Given the description of an element on the screen output the (x, y) to click on. 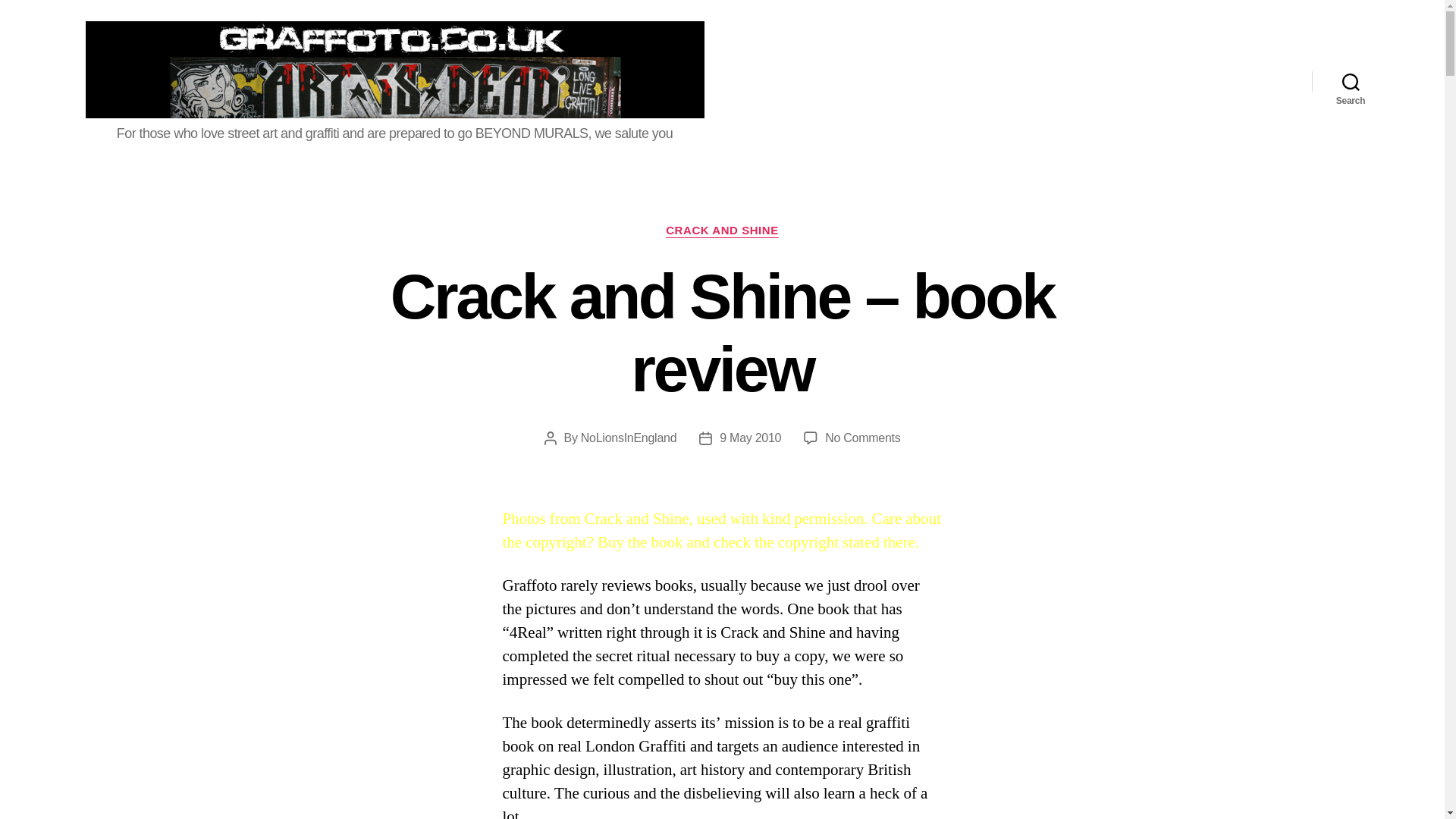
Search (1350, 80)
NoLionsInEngland (628, 437)
CRACK AND SHINE (721, 230)
9 May 2010 (749, 437)
